Given the description of an element on the screen output the (x, y) to click on. 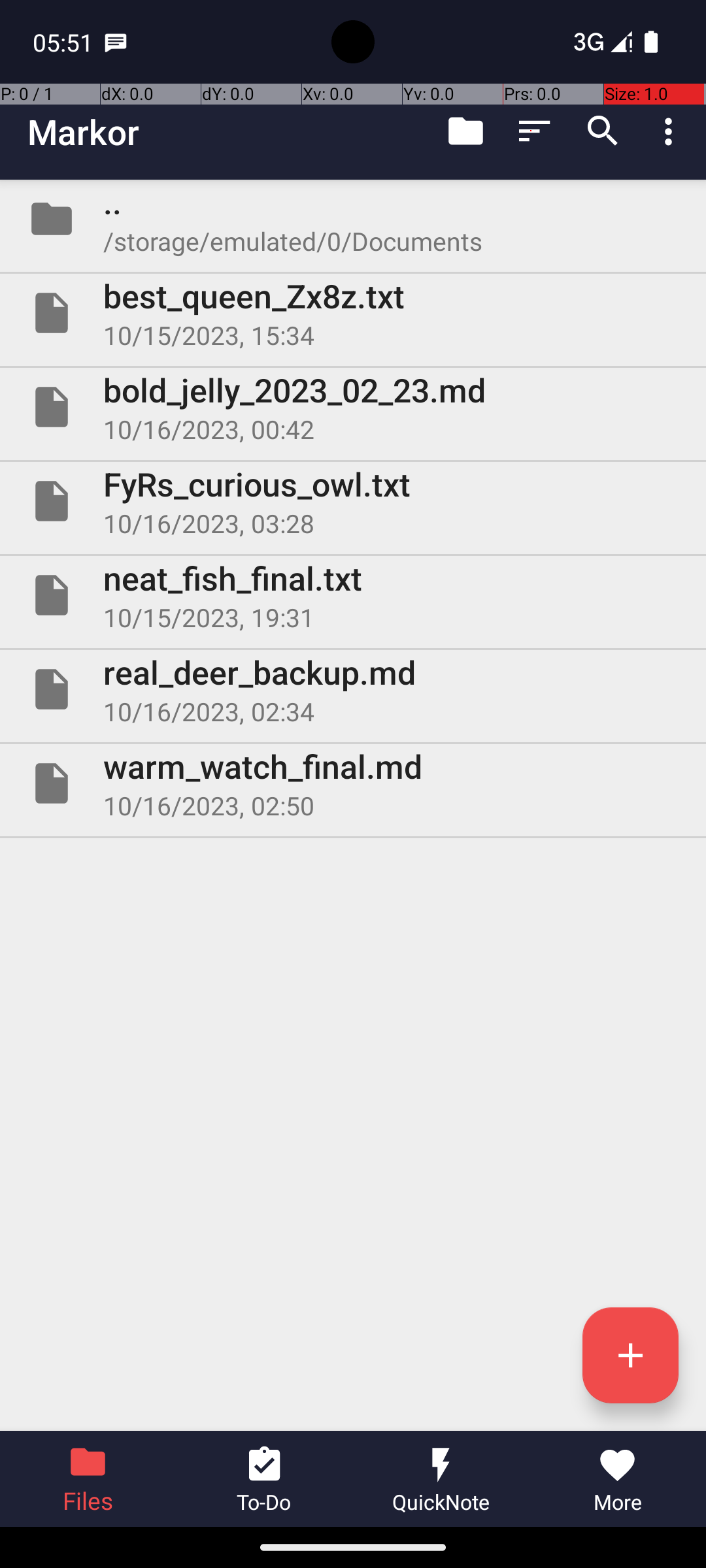
File best_queen_Zx8z.txt  Element type: android.widget.LinearLayout (353, 312)
File bold_jelly_2023_02_23.md  Element type: android.widget.LinearLayout (353, 406)
File FyRs_curious_owl.txt  Element type: android.widget.LinearLayout (353, 500)
File neat_fish_final.txt  Element type: android.widget.LinearLayout (353, 594)
File real_deer_backup.md  Element type: android.widget.LinearLayout (353, 689)
File warm_watch_final.md  Element type: android.widget.LinearLayout (353, 783)
05:51 Element type: android.widget.TextView (64, 41)
